Given the description of an element on the screen output the (x, y) to click on. 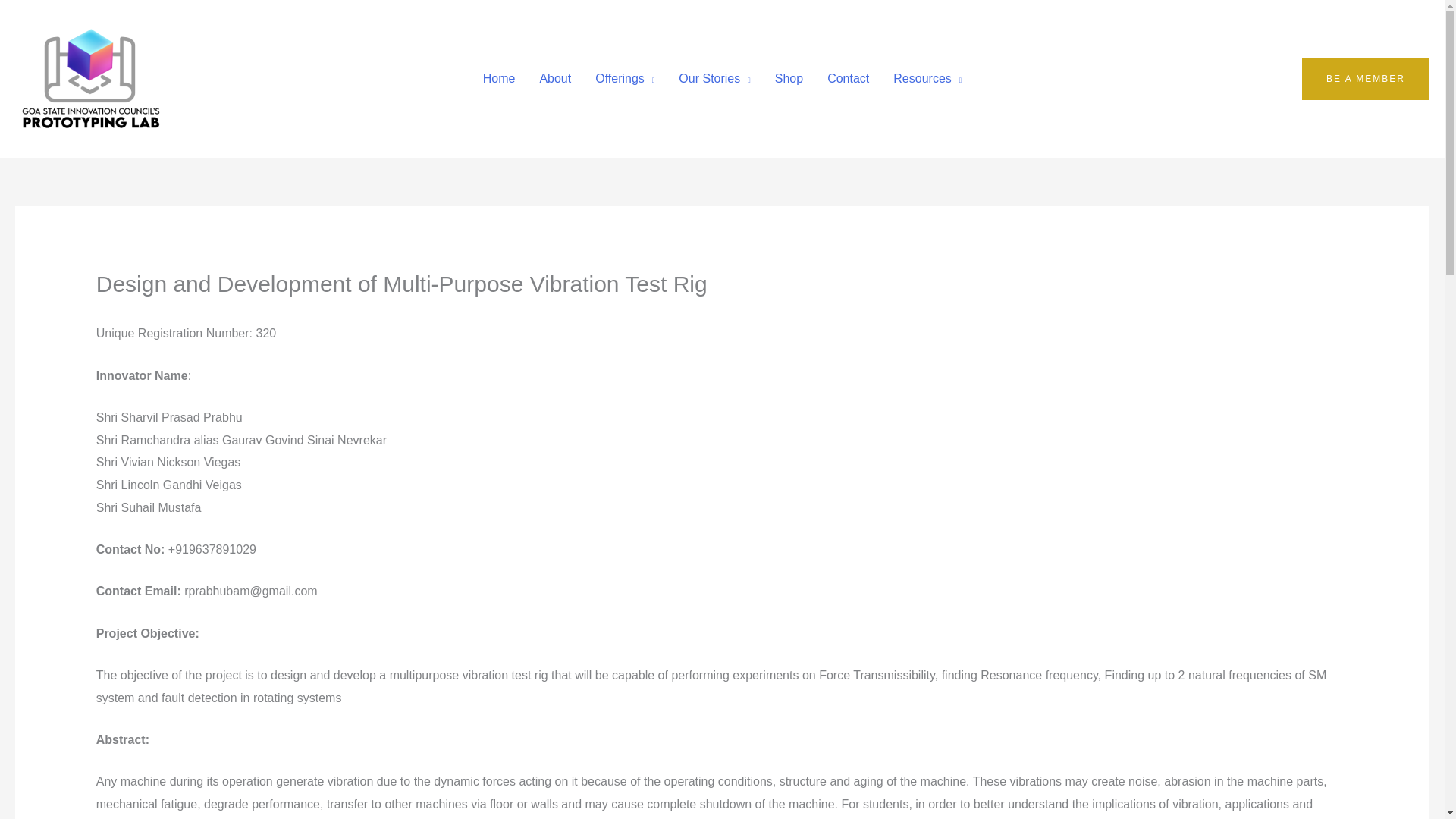
Home (498, 78)
BE A MEMBER (1365, 78)
Shop (788, 78)
Offerings (624, 78)
About (555, 78)
Our Stories (713, 78)
Contact (847, 78)
Resources (927, 78)
